Given the description of an element on the screen output the (x, y) to click on. 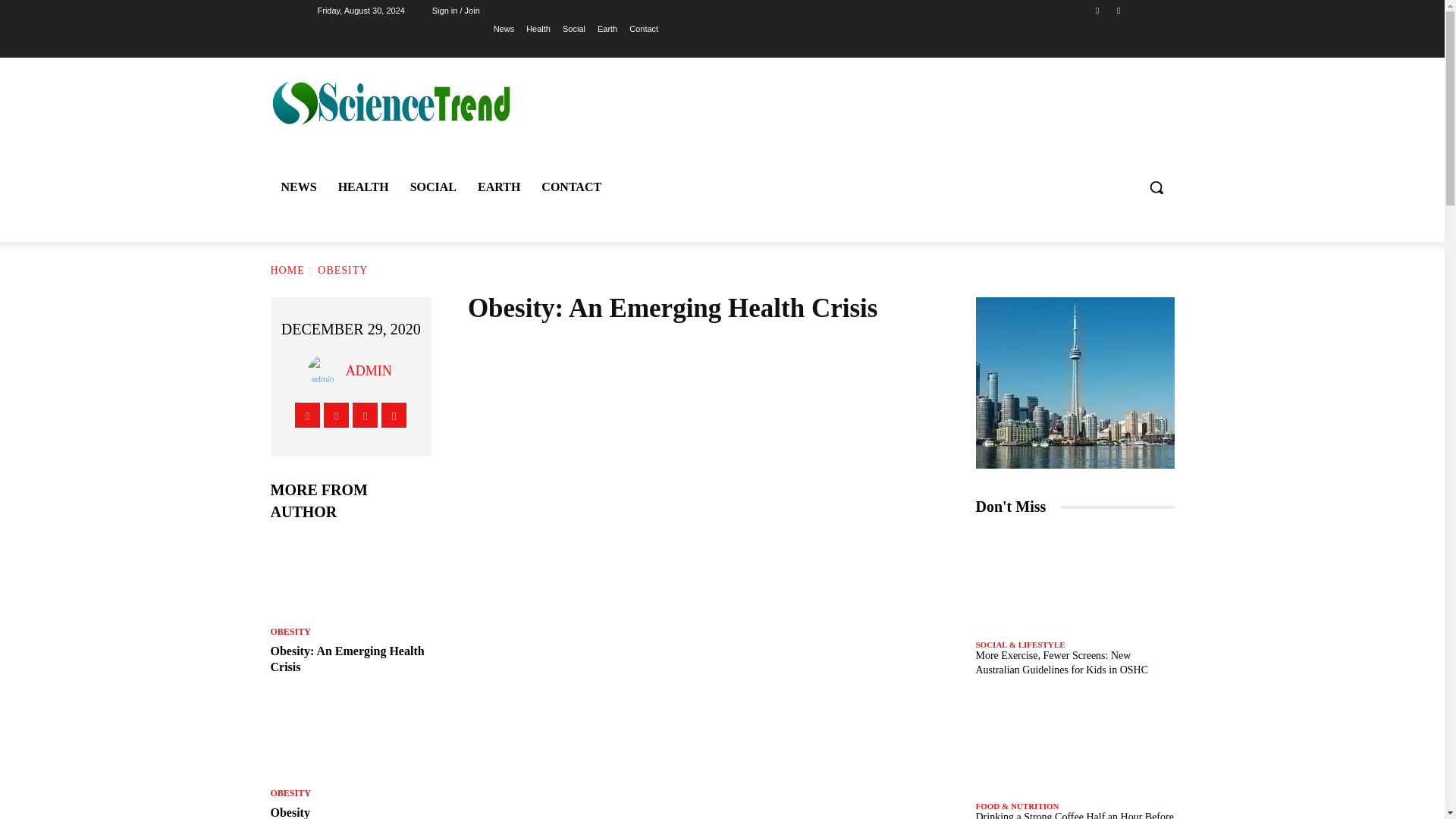
View all posts in Obesity (342, 270)
Twitter (1117, 9)
admin (326, 370)
Facebook (1097, 9)
SOCIAL (432, 186)
Earth (606, 28)
News (504, 28)
EARTH (499, 186)
NEWS (297, 186)
Health (537, 28)
